Given the description of an element on the screen output the (x, y) to click on. 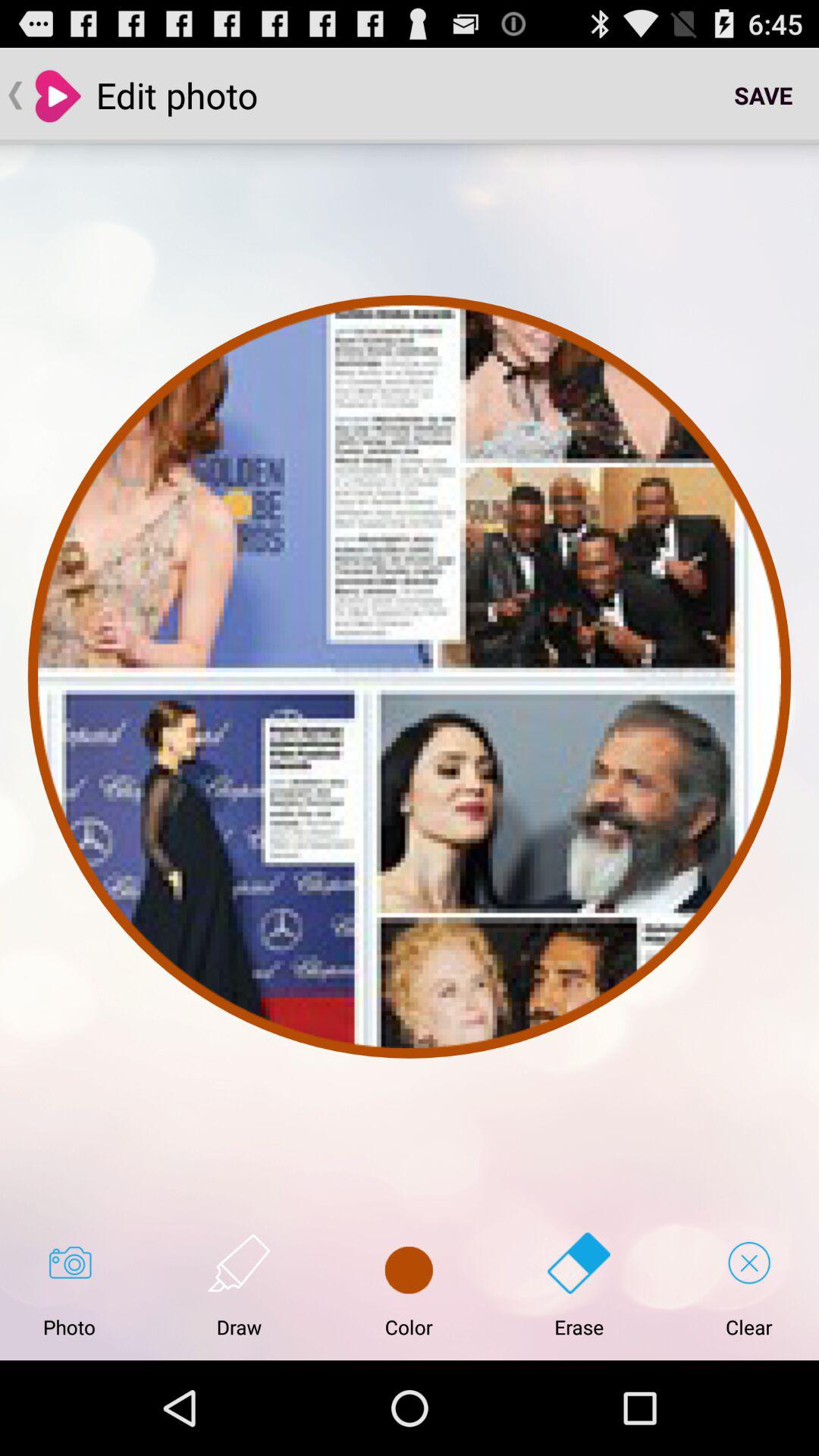
turn off the item at the top right corner (763, 95)
